Given the description of an element on the screen output the (x, y) to click on. 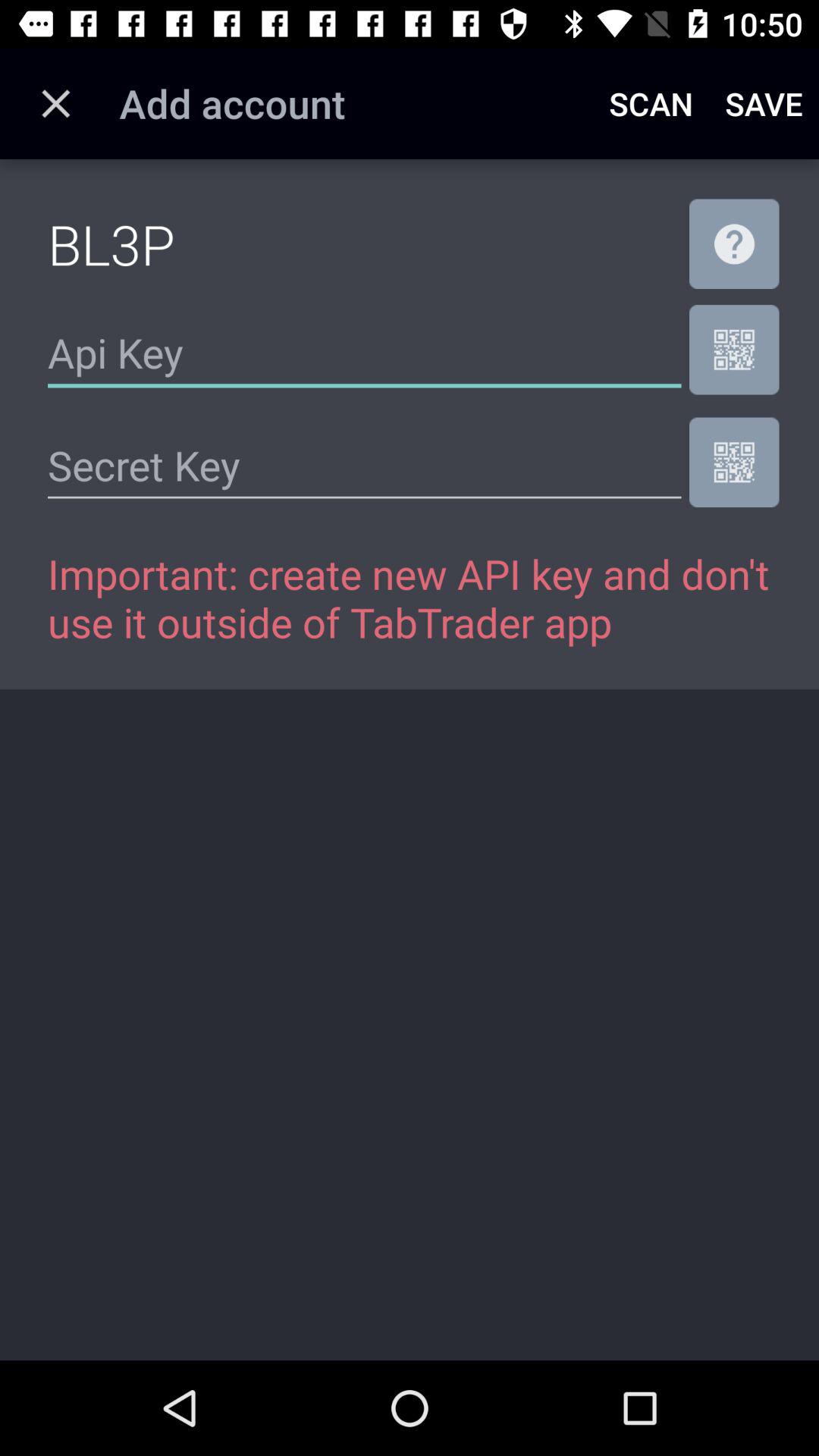
click the icon above important create new (364, 465)
